Given the description of an element on the screen output the (x, y) to click on. 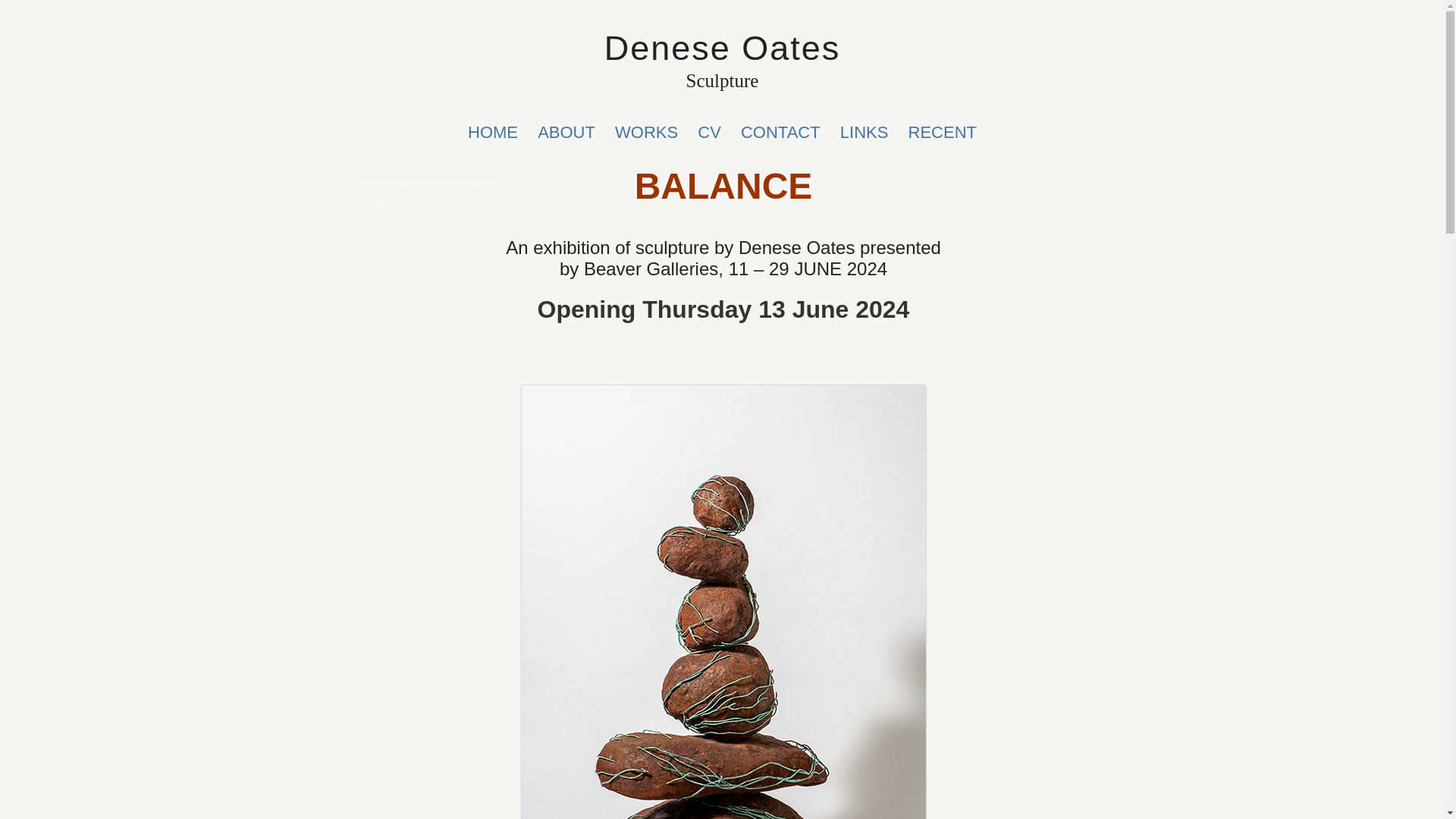
RECENT (942, 132)
WORKS (646, 132)
ABOUT (565, 132)
CV (709, 132)
HOME (492, 132)
LINKS (864, 132)
CONTACT (780, 132)
